Given the description of an element on the screen output the (x, y) to click on. 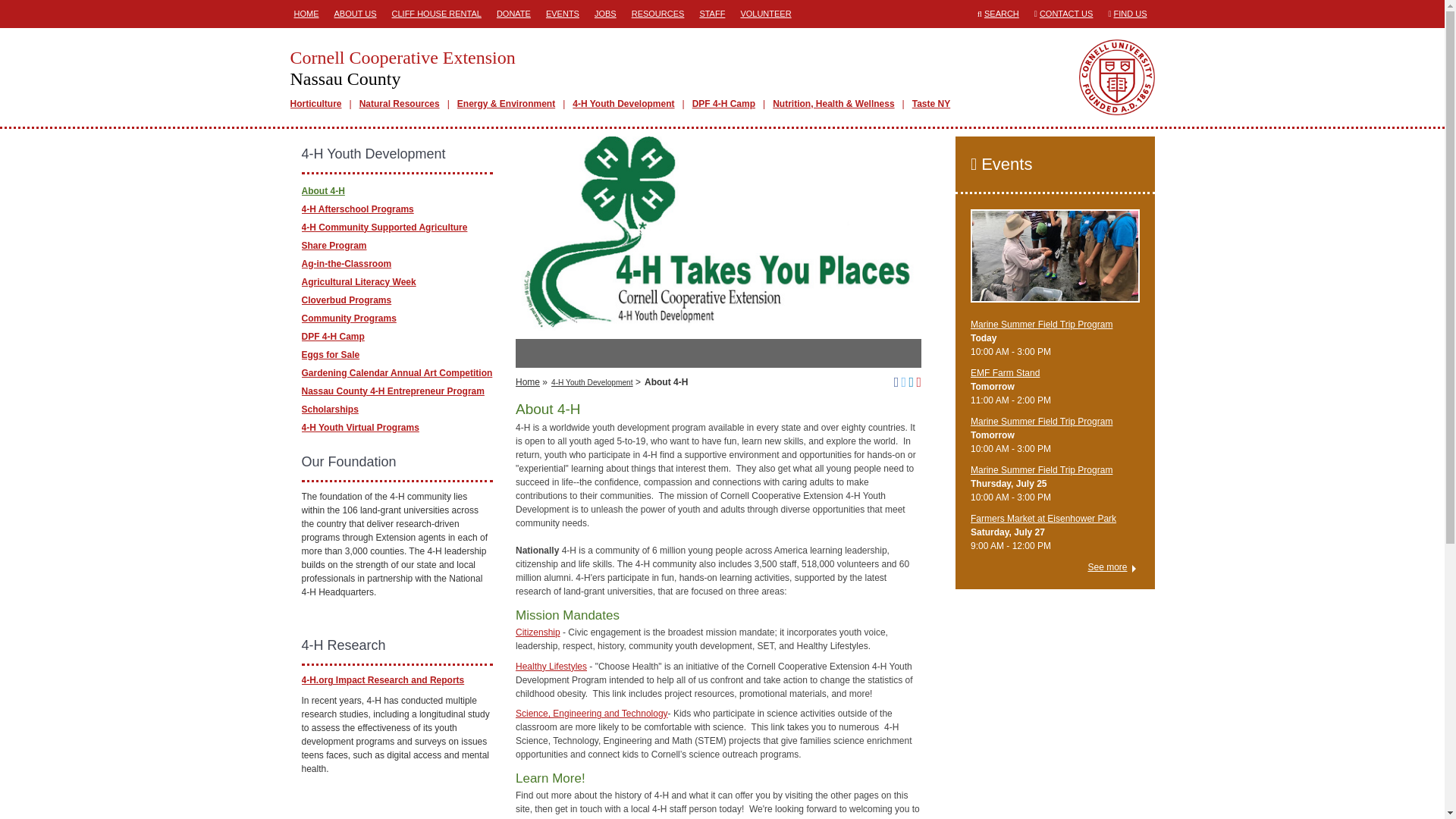
Choose Health (550, 665)
FIND US (1130, 13)
About 4-H (323, 190)
SEARCH (1001, 13)
ABOUT US (355, 13)
4-H Community Supported Agriculture Share Program (384, 235)
SET (591, 713)
Horticulture (314, 103)
Taste NY (931, 103)
DPF 4-H Camp (724, 103)
VOLUNTEER (765, 13)
CONTACT US (1066, 13)
Science, Engineering and Technology (675, 67)
RESOURCES (591, 713)
